Given the description of an element on the screen output the (x, y) to click on. 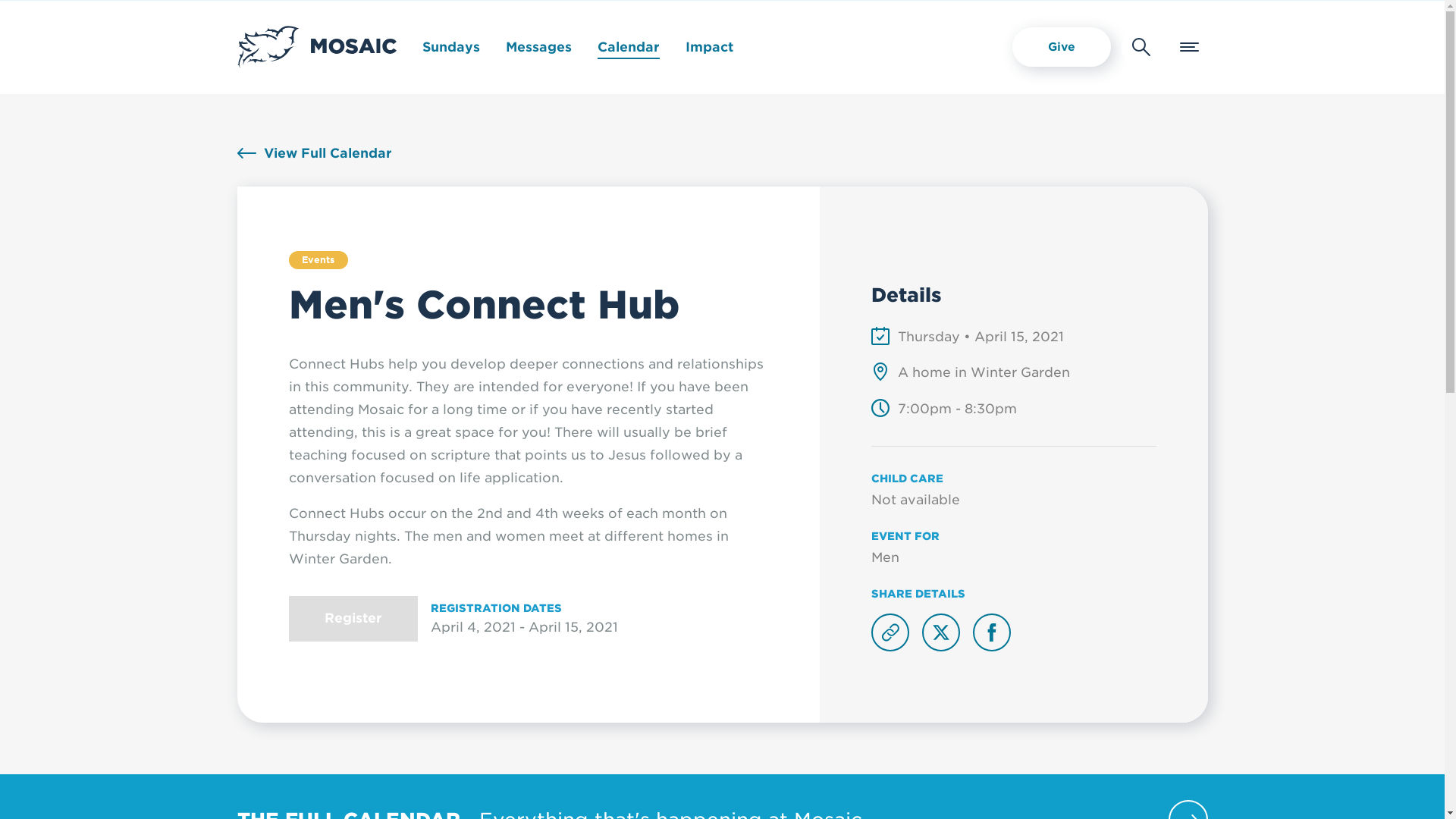
Impact (709, 46)
Messages (537, 46)
Calendar (627, 46)
Give (1060, 46)
Sundays (450, 46)
